Given the description of an element on the screen output the (x, y) to click on. 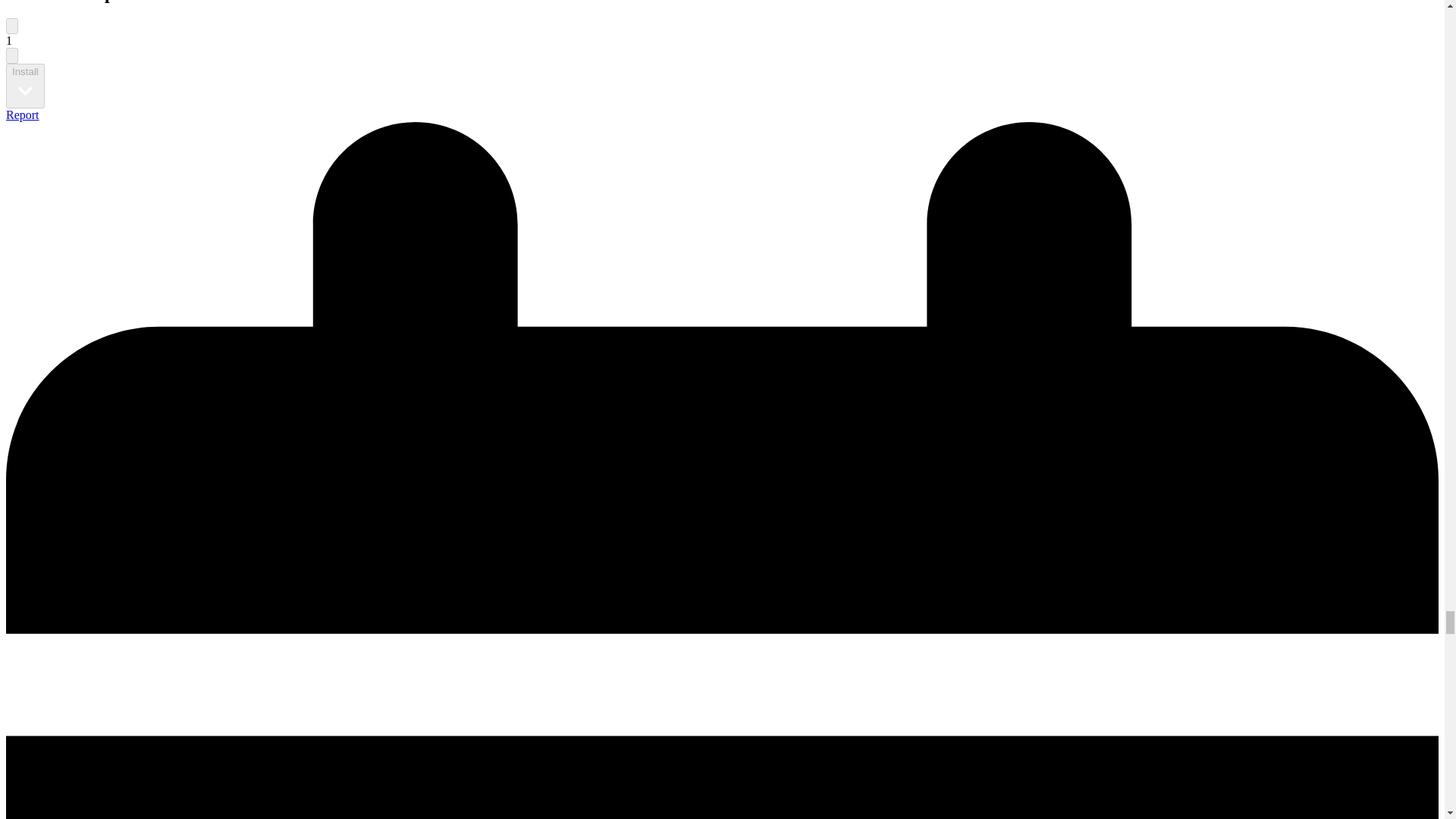
Report (22, 114)
Install (25, 85)
